Given the description of an element on the screen output the (x, y) to click on. 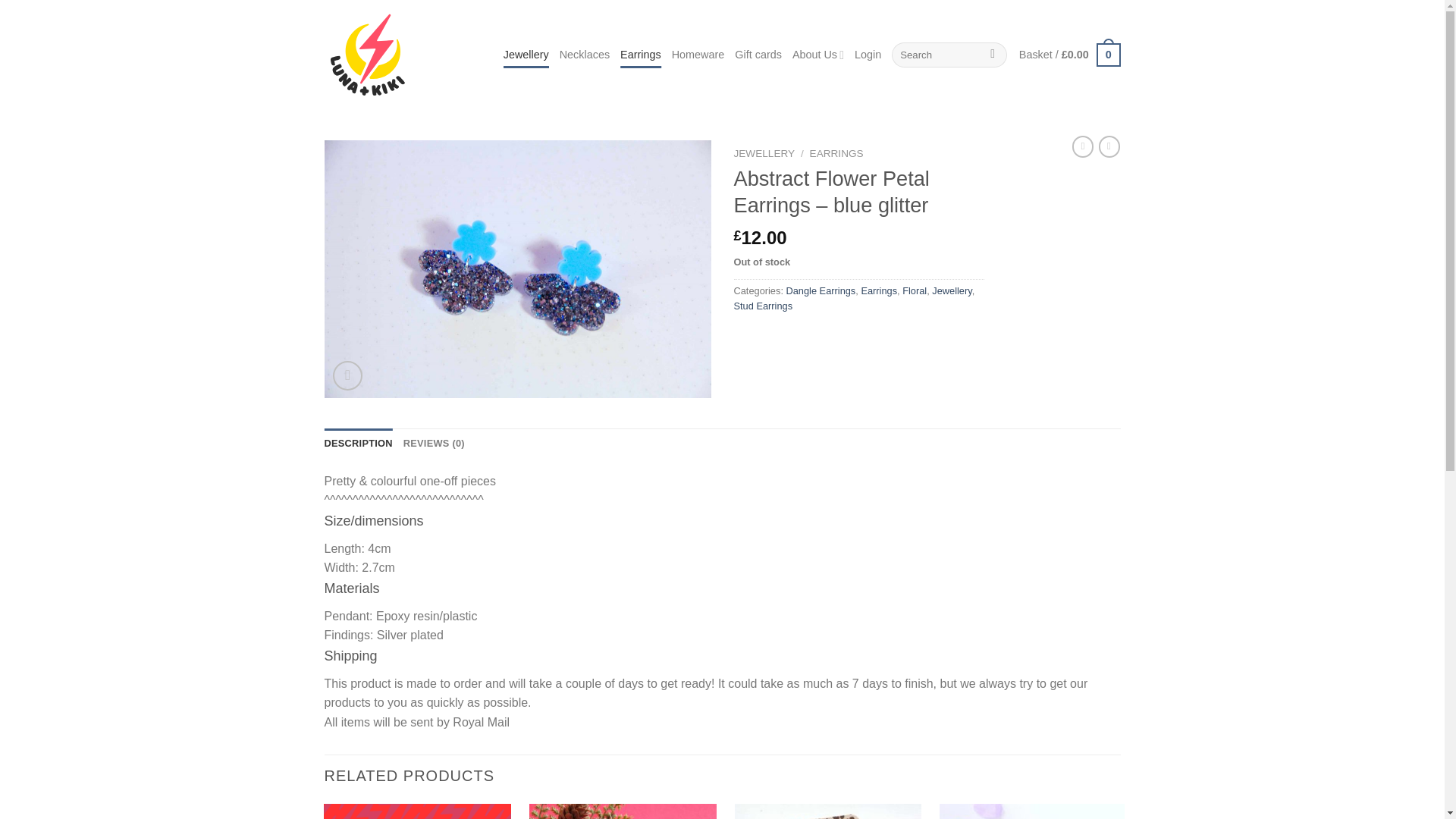
Search (992, 54)
DESCRIPTION (358, 443)
Stud Earrings (763, 306)
Dangle Earrings (821, 290)
Jewellery (951, 290)
Floral (914, 290)
Zoom (347, 375)
Earrings (878, 290)
Gift cards (758, 53)
About Us (818, 54)
